Given the description of an element on the screen output the (x, y) to click on. 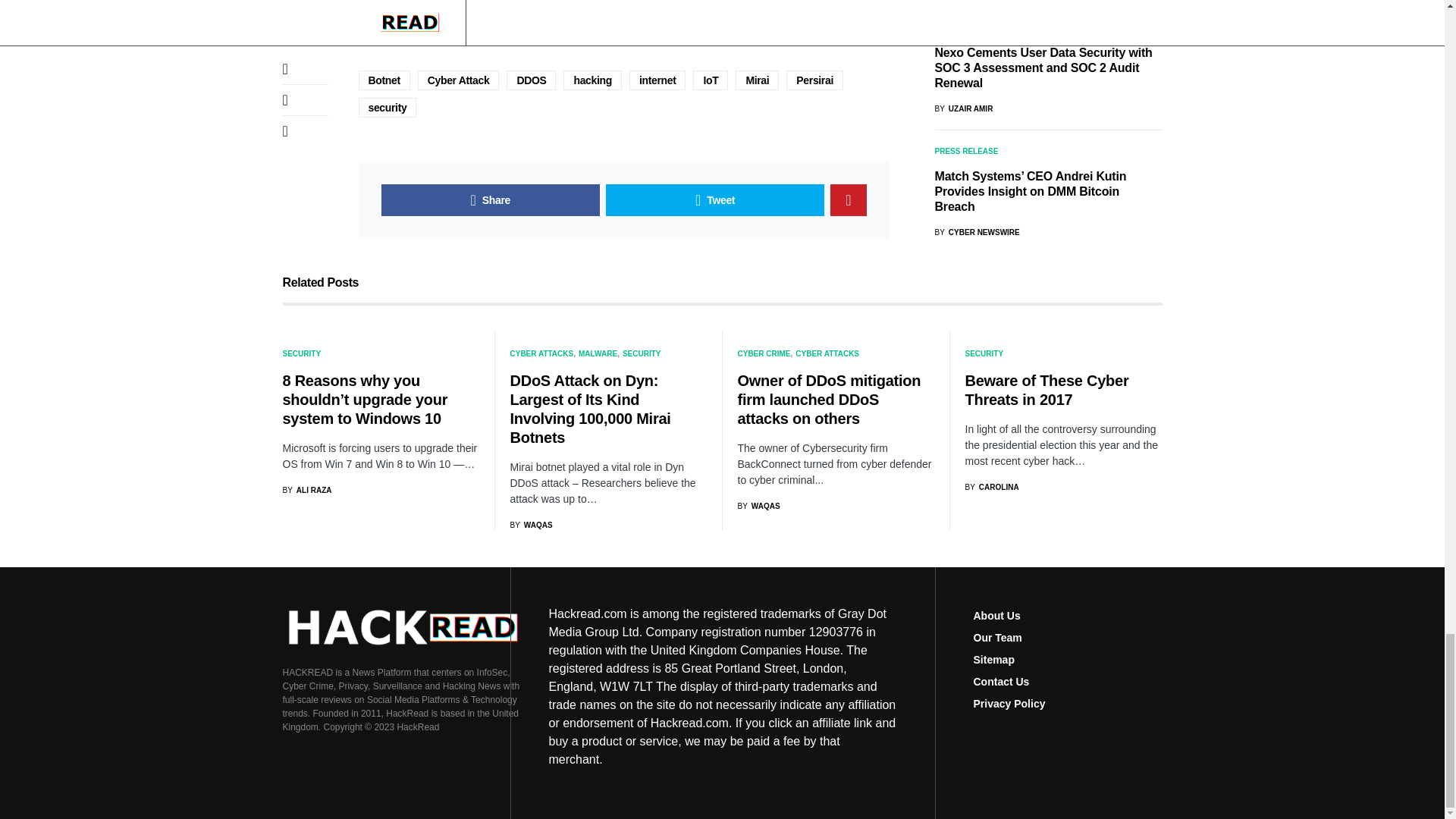
View all posts by Waqas (757, 505)
View all posts by Waqas (530, 524)
View all posts by Carolina (990, 487)
View all posts by Ali Raza (306, 490)
